Given the description of an element on the screen output the (x, y) to click on. 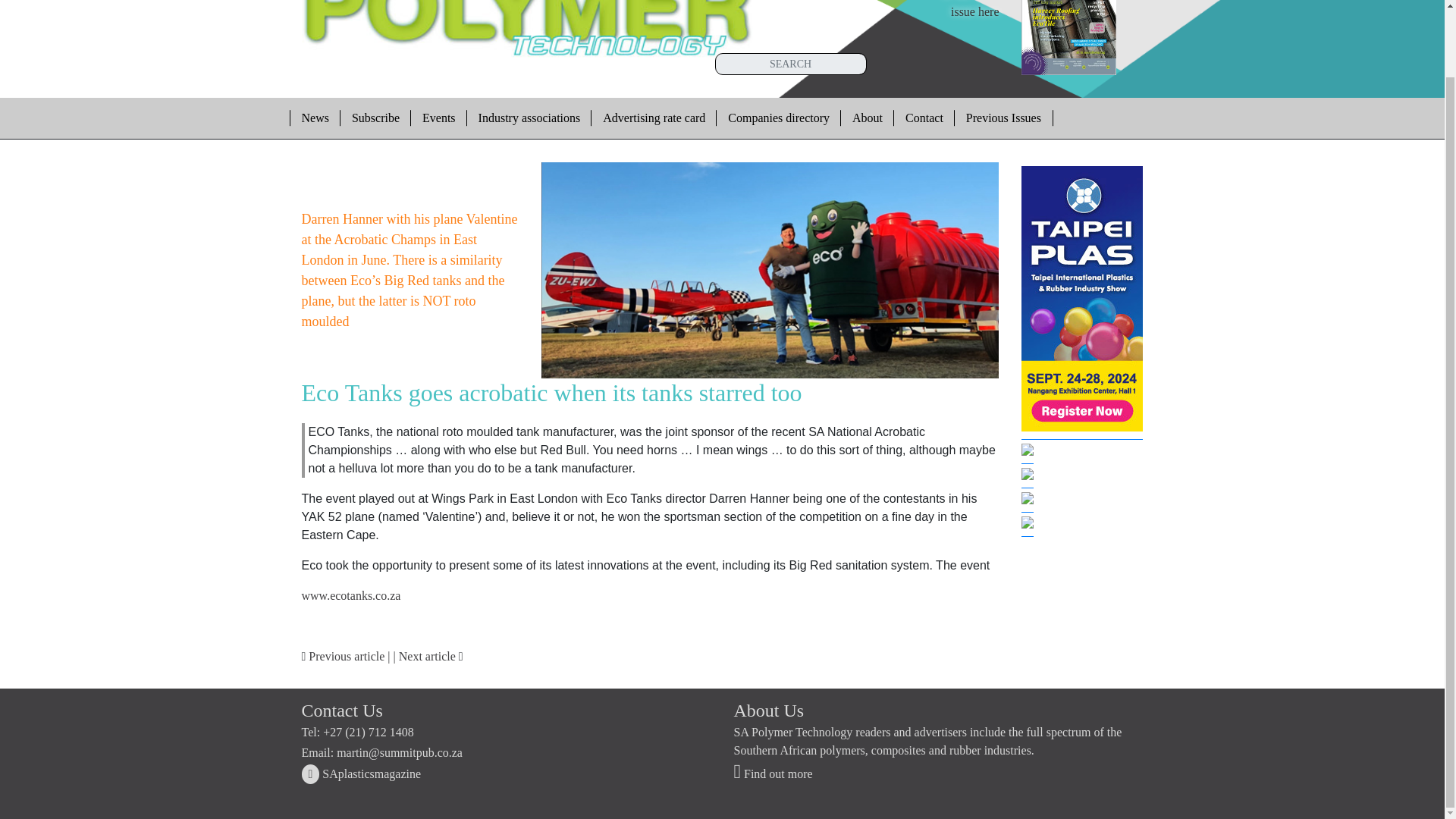
Advertising rate card (653, 117)
Subscribe (375, 117)
Industry associations (529, 117)
Events (438, 117)
Contact (924, 117)
About (867, 117)
 SAplasticsmagazine (964, 9)
Companies directory (361, 773)
 Find out more (778, 117)
